Given the description of an element on the screen output the (x, y) to click on. 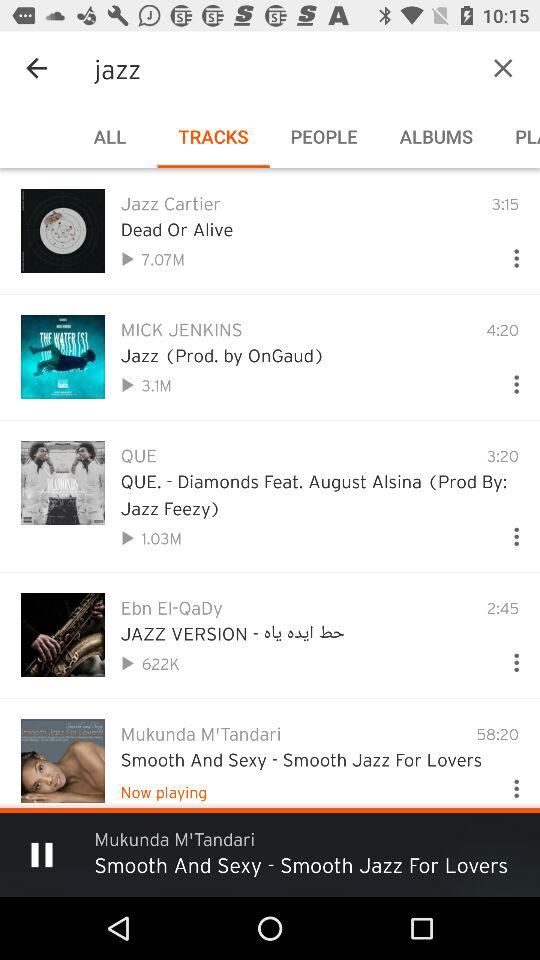
click on the cross icon (472, 67)
